Given the description of an element on the screen output the (x, y) to click on. 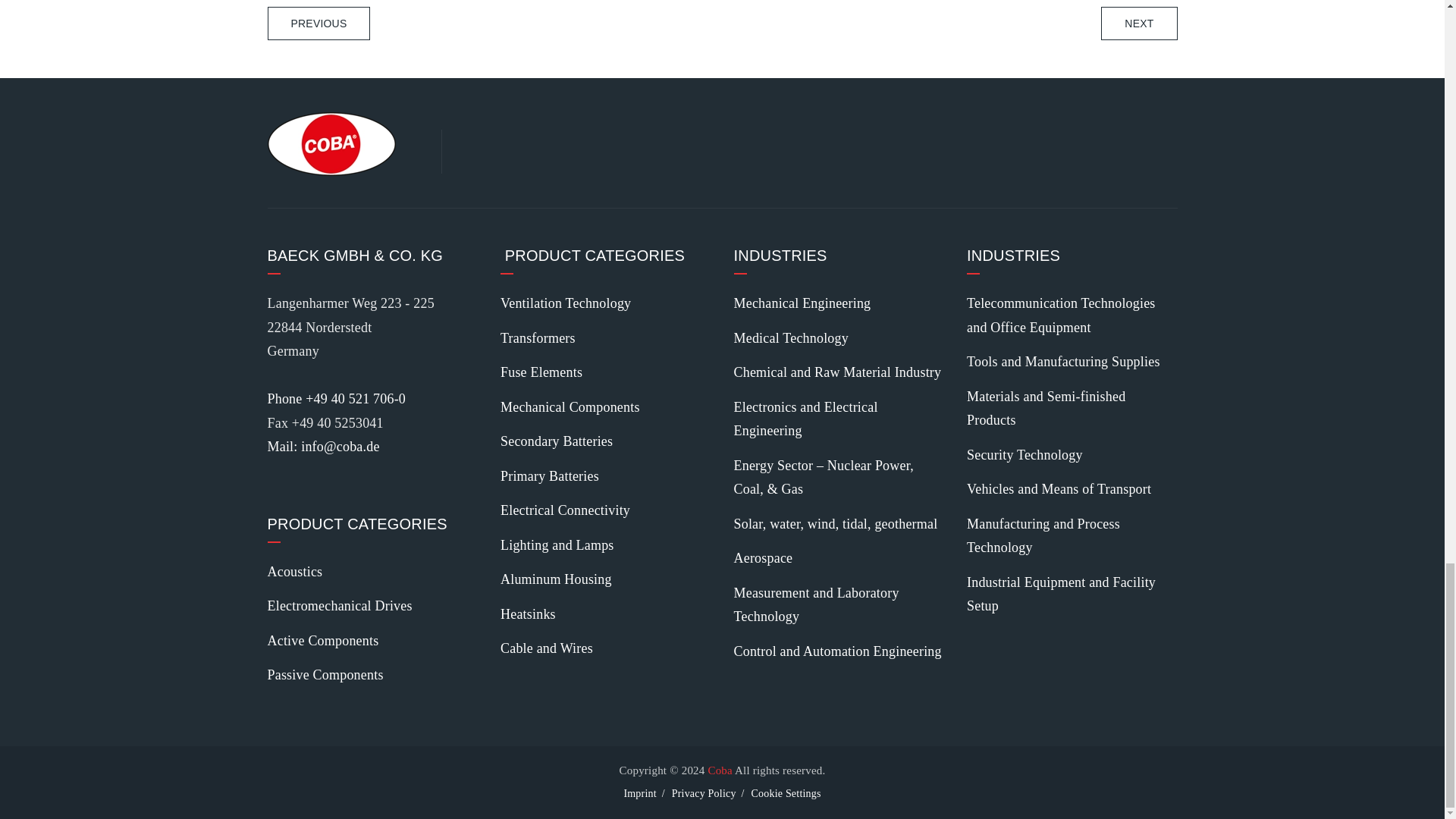
Electromechanical Drives (339, 606)
Lighting and Lamps (557, 545)
PREVIOUS (317, 23)
Primary Batteries (549, 476)
Transformers (537, 338)
Electrical Connectivity (565, 510)
Active Components (322, 640)
Electronics and Electrical Engineering (838, 418)
Aluminum Housing (555, 580)
Chemical and Raw Material Industry (837, 372)
Ventilation Technology (565, 303)
Medical Technology (790, 338)
NEXT (1138, 23)
Heatsinks (528, 614)
Passive Components (324, 675)
